Given the description of an element on the screen output the (x, y) to click on. 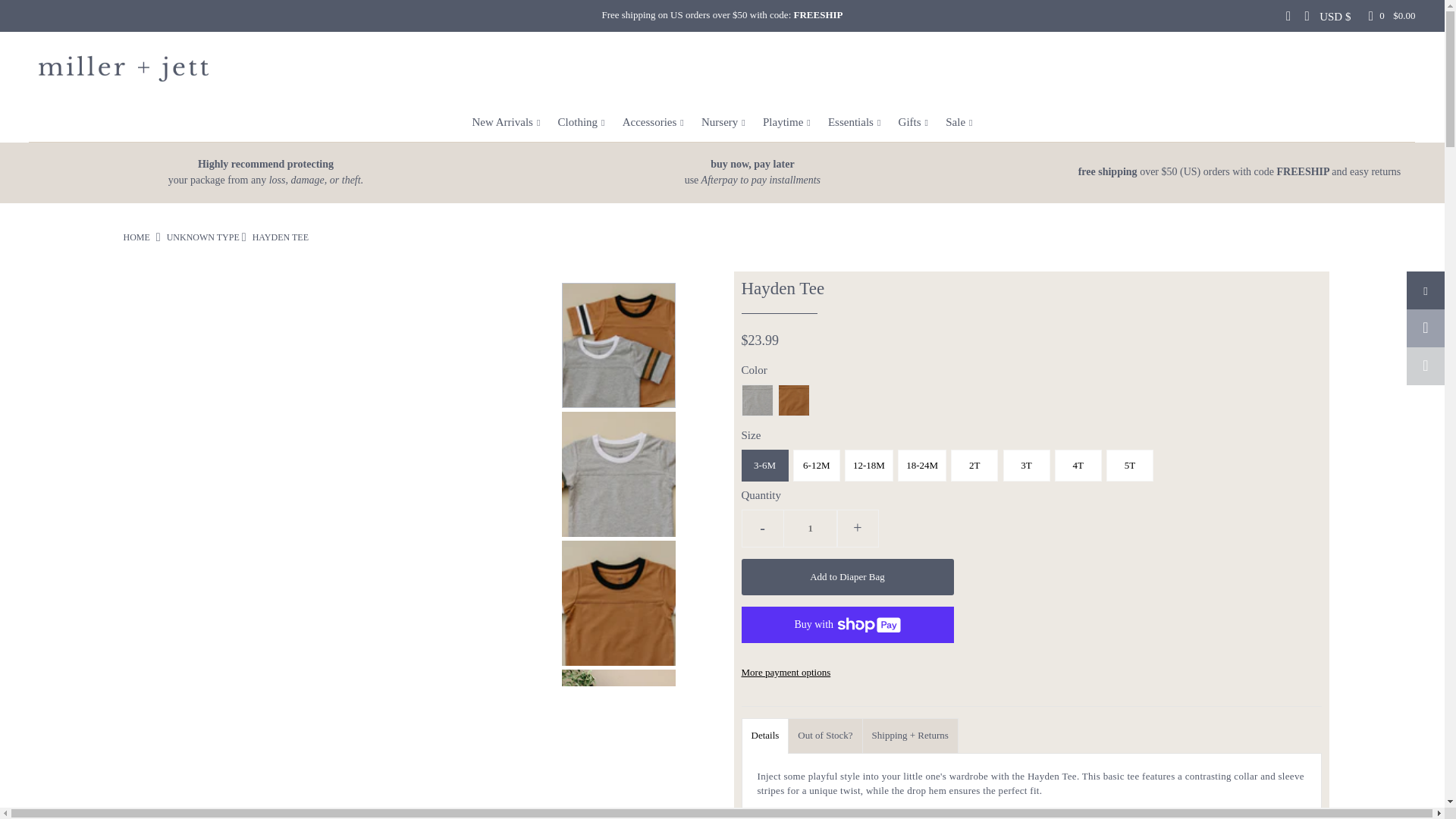
News (759, 179)
1 (751, 172)
Add to Diaper Bag (810, 528)
Shipping Proctection (847, 576)
Home (265, 163)
